Given the description of an element on the screen output the (x, y) to click on. 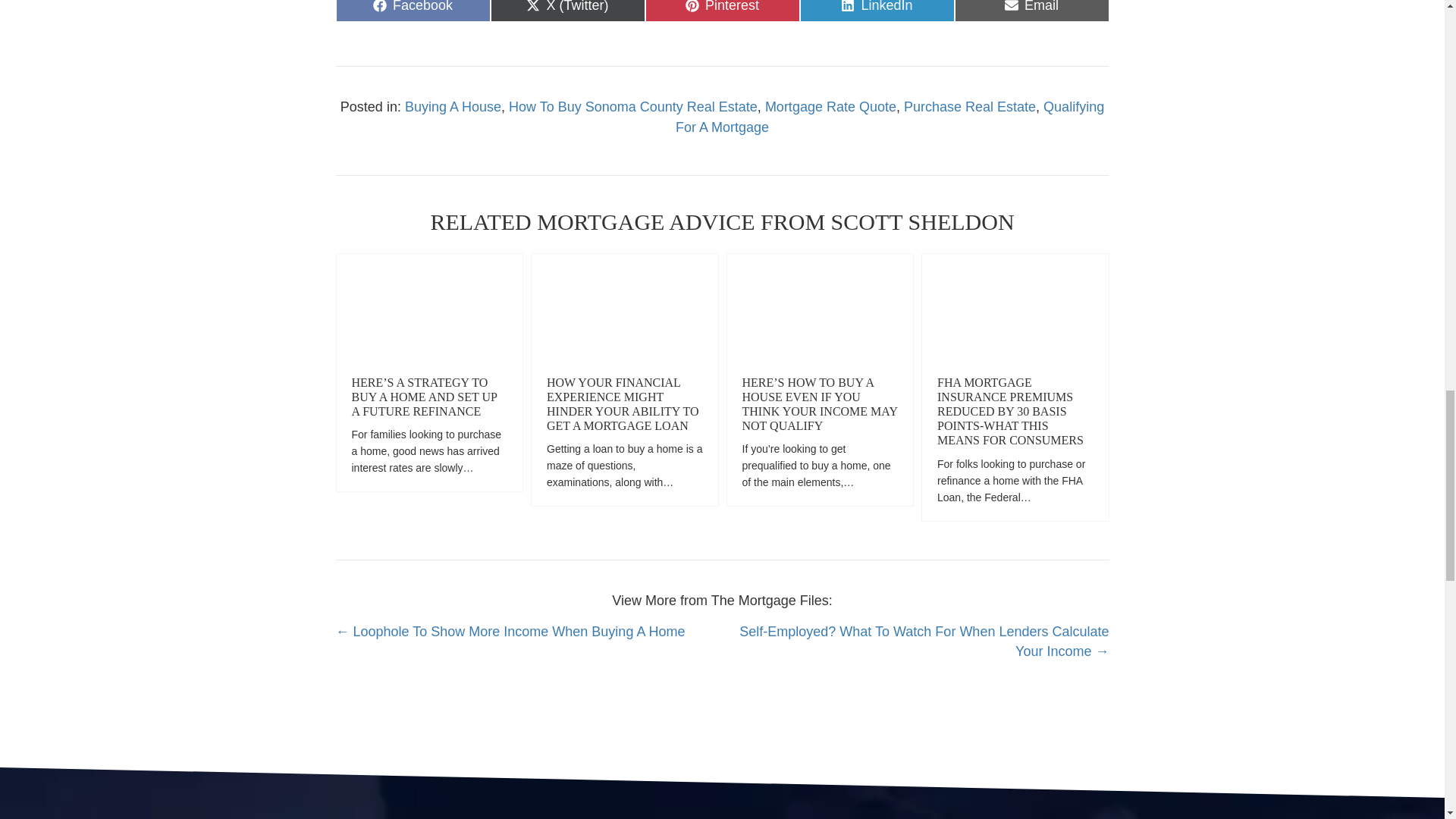
Qualifying For A Mortgage (722, 11)
Mortgage Rate Quote (889, 116)
Buying A House (1030, 11)
